Given the description of an element on the screen output the (x, y) to click on. 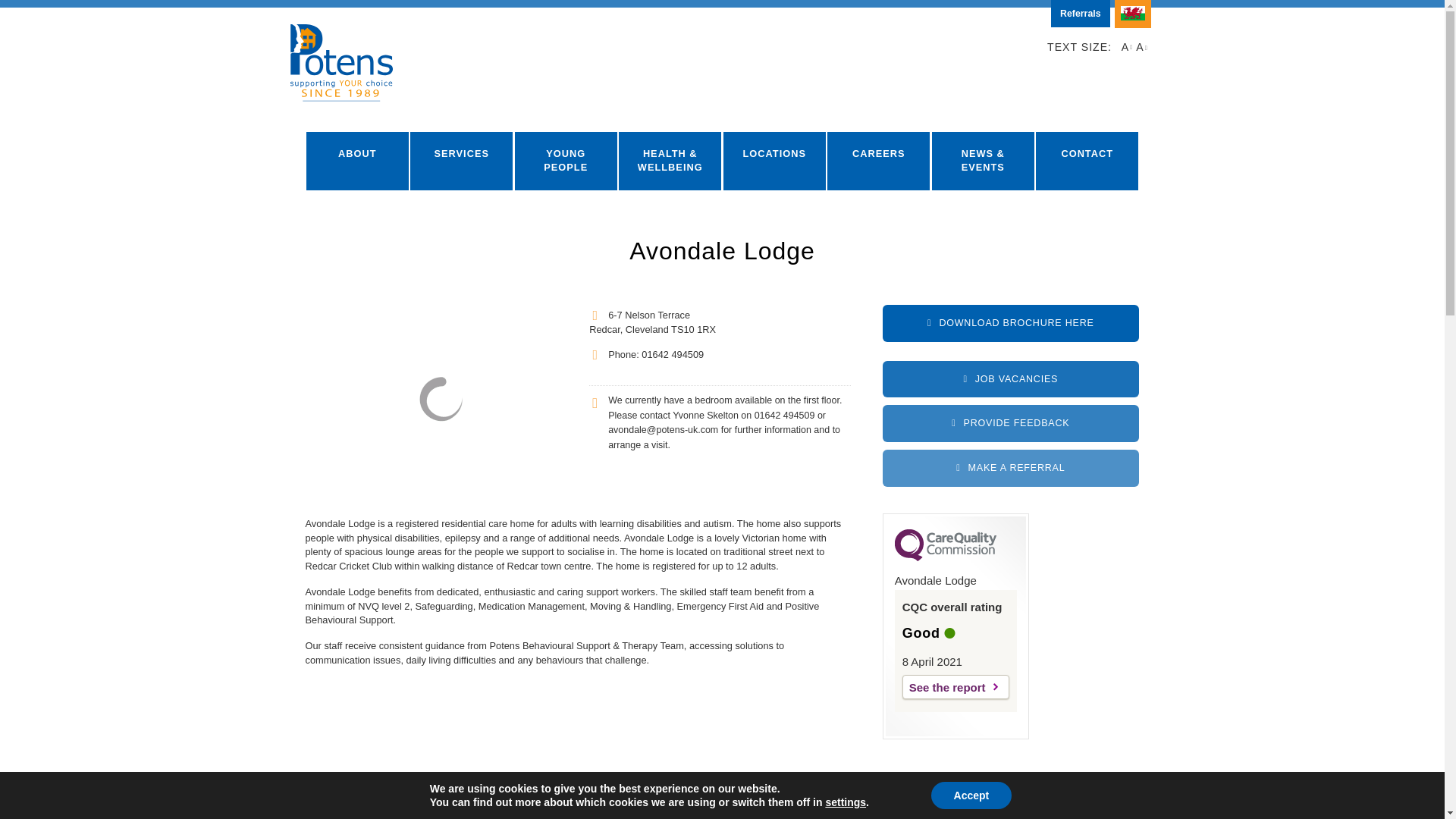
Potens Wales (1133, 13)
MAKE A REFERRAL (1010, 467)
Referrals (1080, 13)
Referrals (1080, 13)
LOCATIONS (774, 160)
JOB VACANCIES (1010, 379)
CQC Logo (945, 557)
Services for Young People (566, 160)
See the report (955, 686)
Careers (1010, 379)
CAREERS (878, 160)
ABOUT (357, 160)
DOWNLOAD BROCHURE HERE (1010, 323)
PROVIDE FEEDBACK (1010, 423)
YOUNG PEOPLE (566, 160)
